Given the description of an element on the screen output the (x, y) to click on. 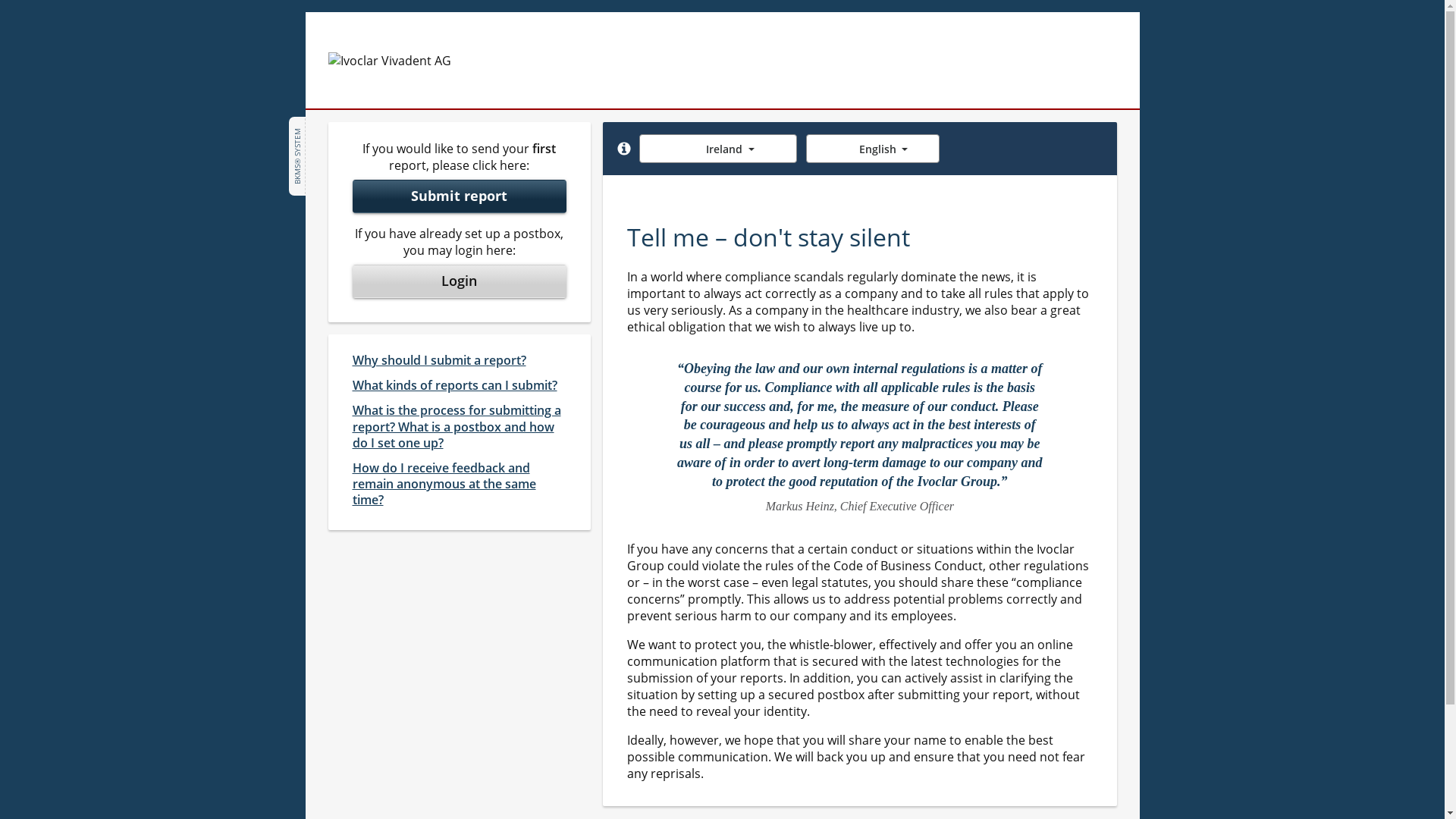
Login Element type: text (458, 281)
Why select country/region? Element type: text (623, 148)
What kinds of reports can I submit? Element type: text (453, 385)
English Element type: text (872, 148)
Submit report Element type: text (458, 196)
Ireland Element type: text (718, 148)
Why should I submit a report? Element type: text (438, 360)
